Given the description of an element on the screen output the (x, y) to click on. 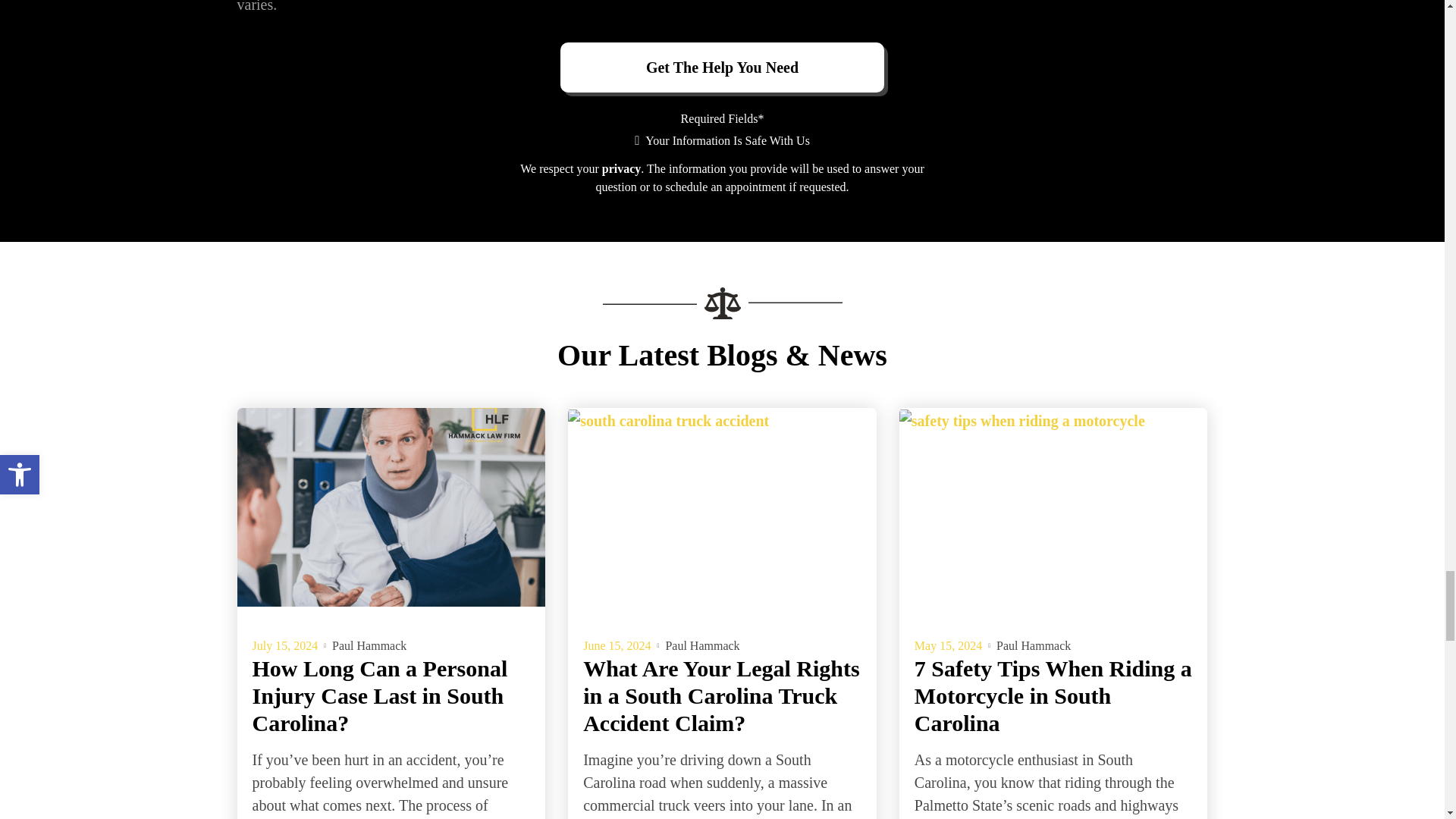
How Long Can a Personal Injury Case Last in South Carolina? (379, 695)
How Long Can a Personal Injury Case Last in South Carolina? (391, 506)
7 Safety Tips When Riding a Motorcycle in South Carolina (1053, 506)
7 Safety Tips When Riding a Motorcycle in South Carolina (1053, 695)
